Given the description of an element on the screen output the (x, y) to click on. 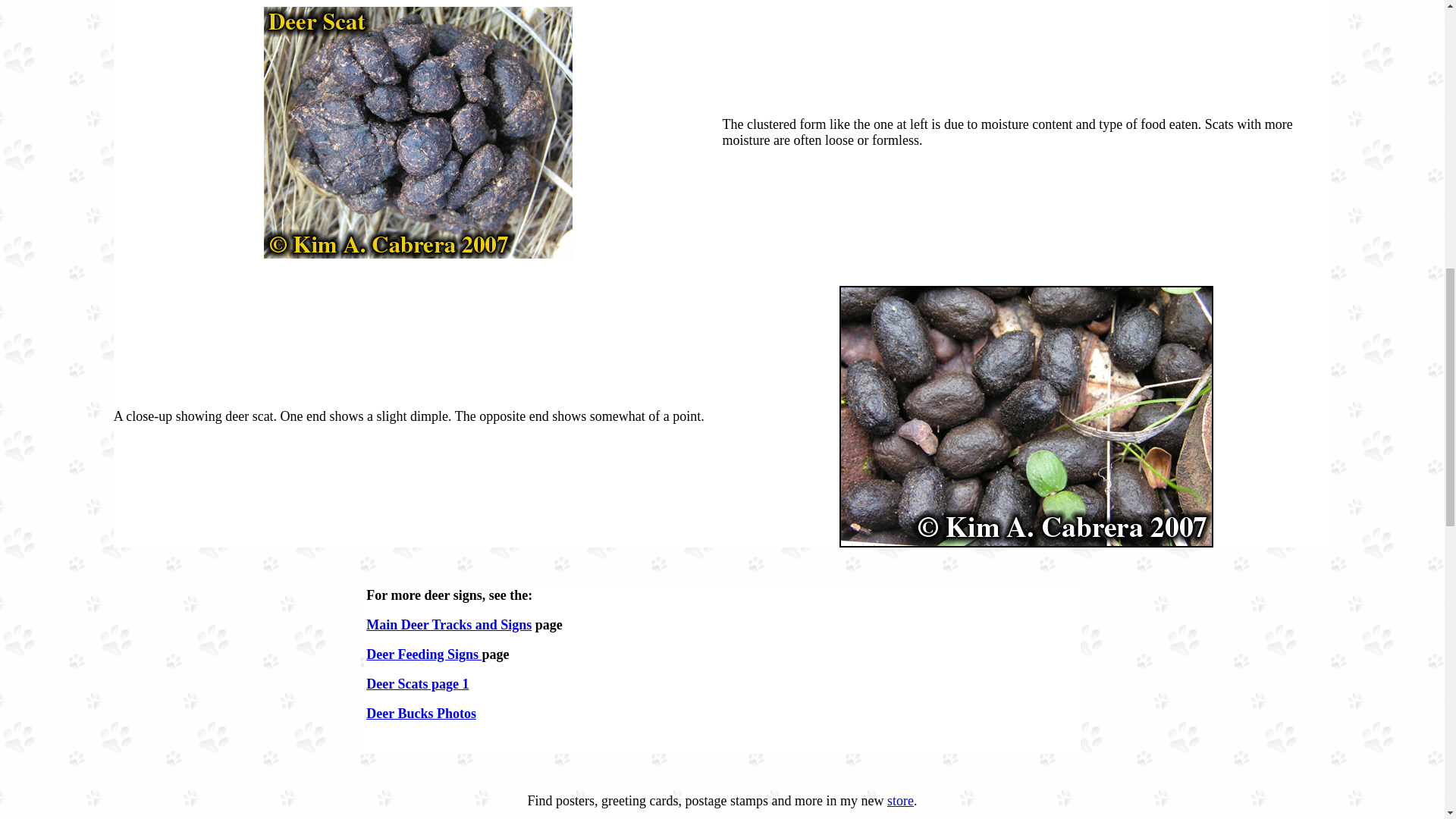
Deer Bucks Photos (421, 713)
store (900, 800)
Main Deer Tracks and Signs (448, 624)
Deer Scats page 1 (417, 683)
Deer Feeding Signs (423, 654)
